Given the description of an element on the screen output the (x, y) to click on. 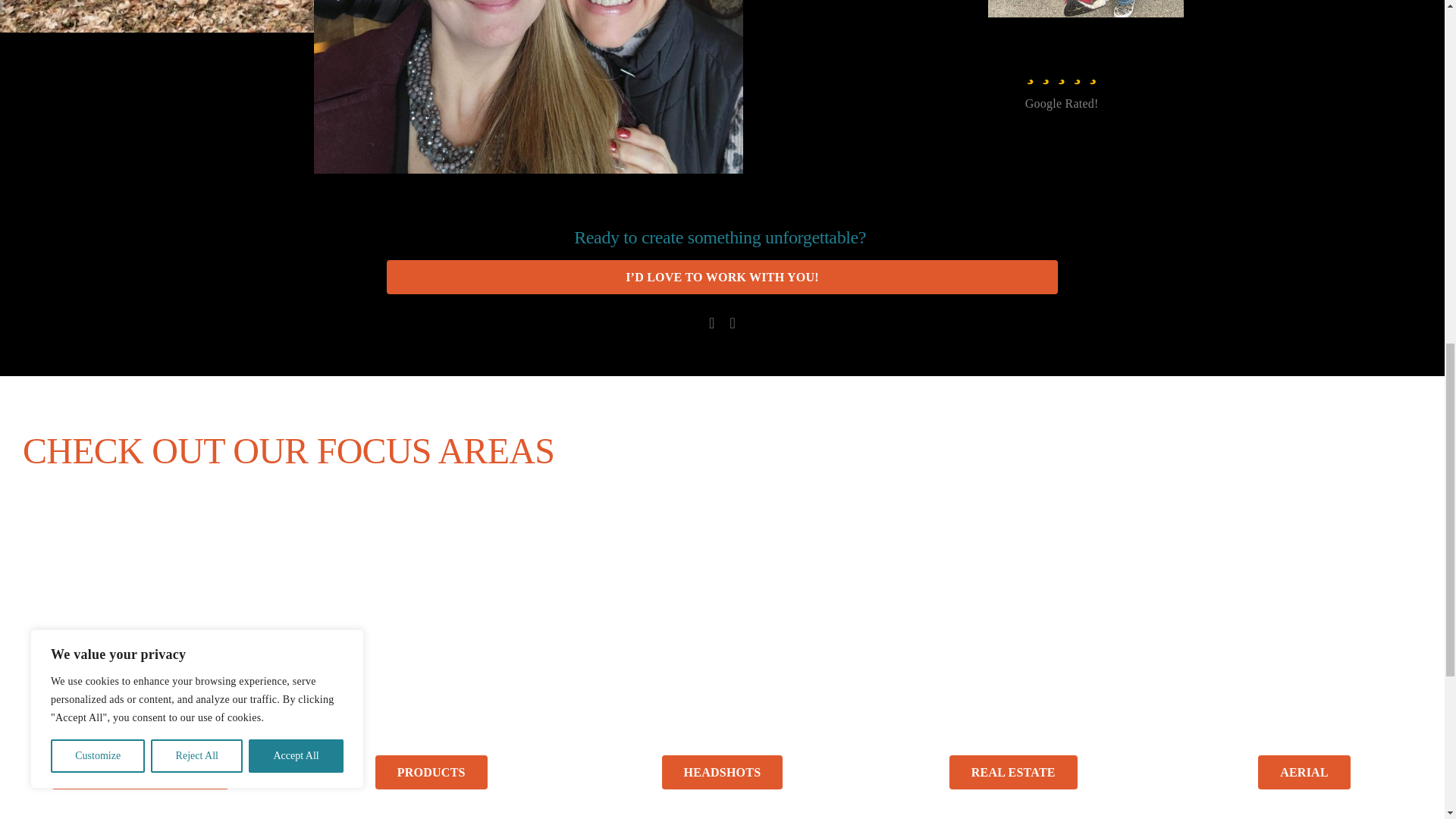
Becky and Sarah (528, 86)
Becky Yorktoberfest (1085, 8)
